Given the description of an element on the screen output the (x, y) to click on. 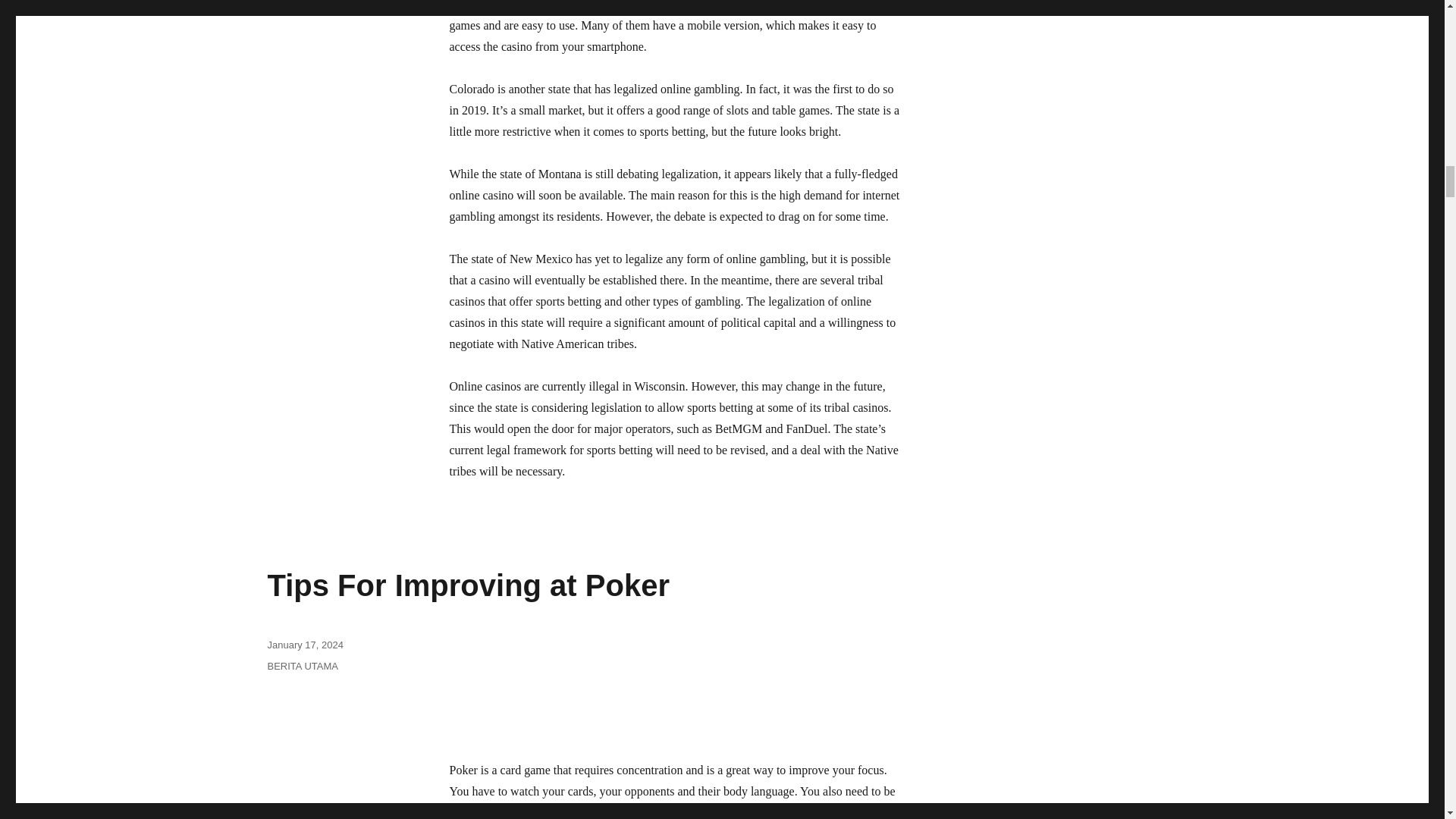
Tips For Improving at Poker (467, 584)
January 17, 2024 (304, 644)
